Given the description of an element on the screen output the (x, y) to click on. 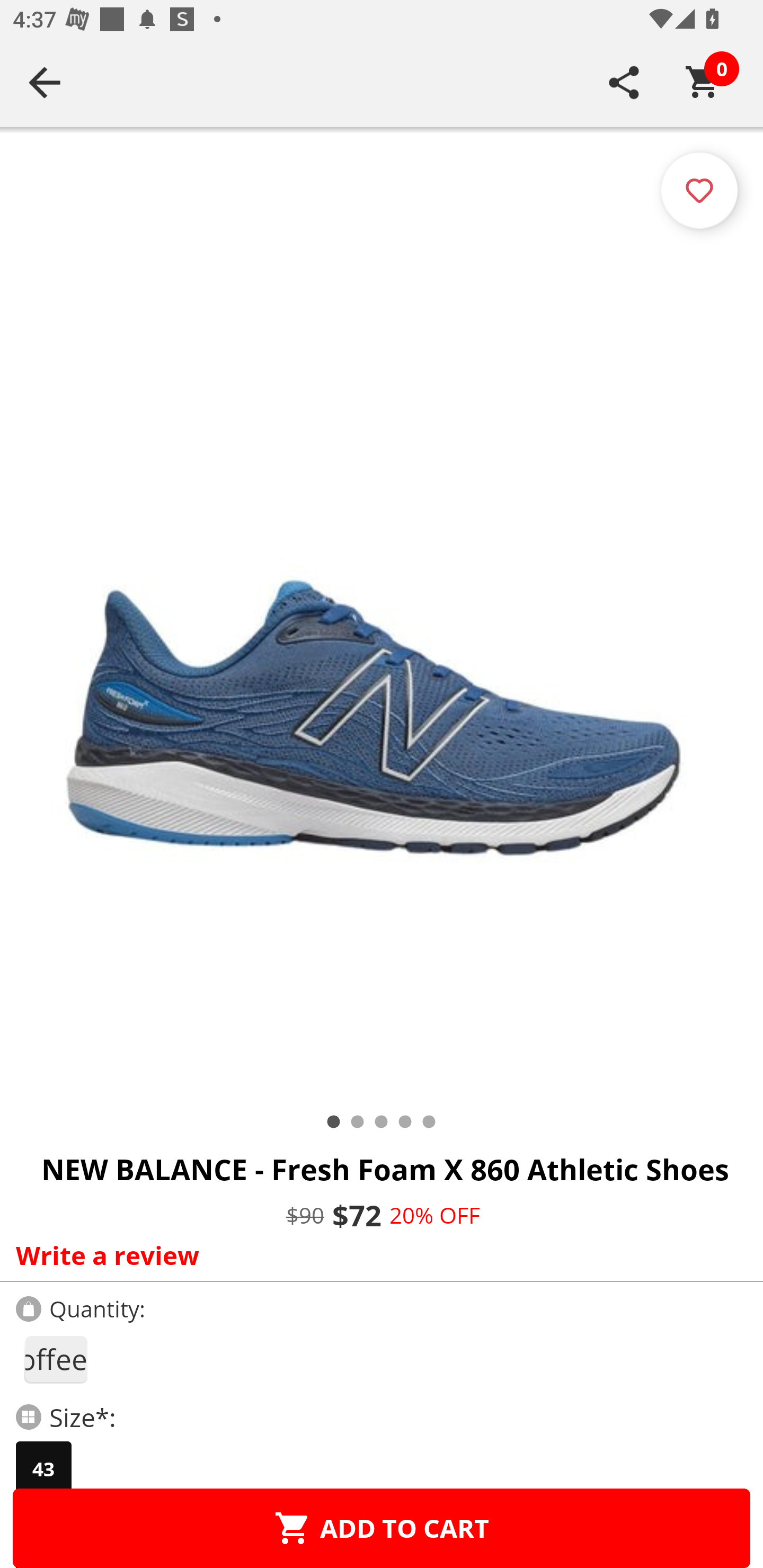
Navigate up (44, 82)
SHARE (623, 82)
Cart (703, 81)
Write a review (377, 1255)
1toothbrushcoffee (55, 1358)
43 (43, 1468)
ADD TO CART (381, 1528)
